Given the description of an element on the screen output the (x, y) to click on. 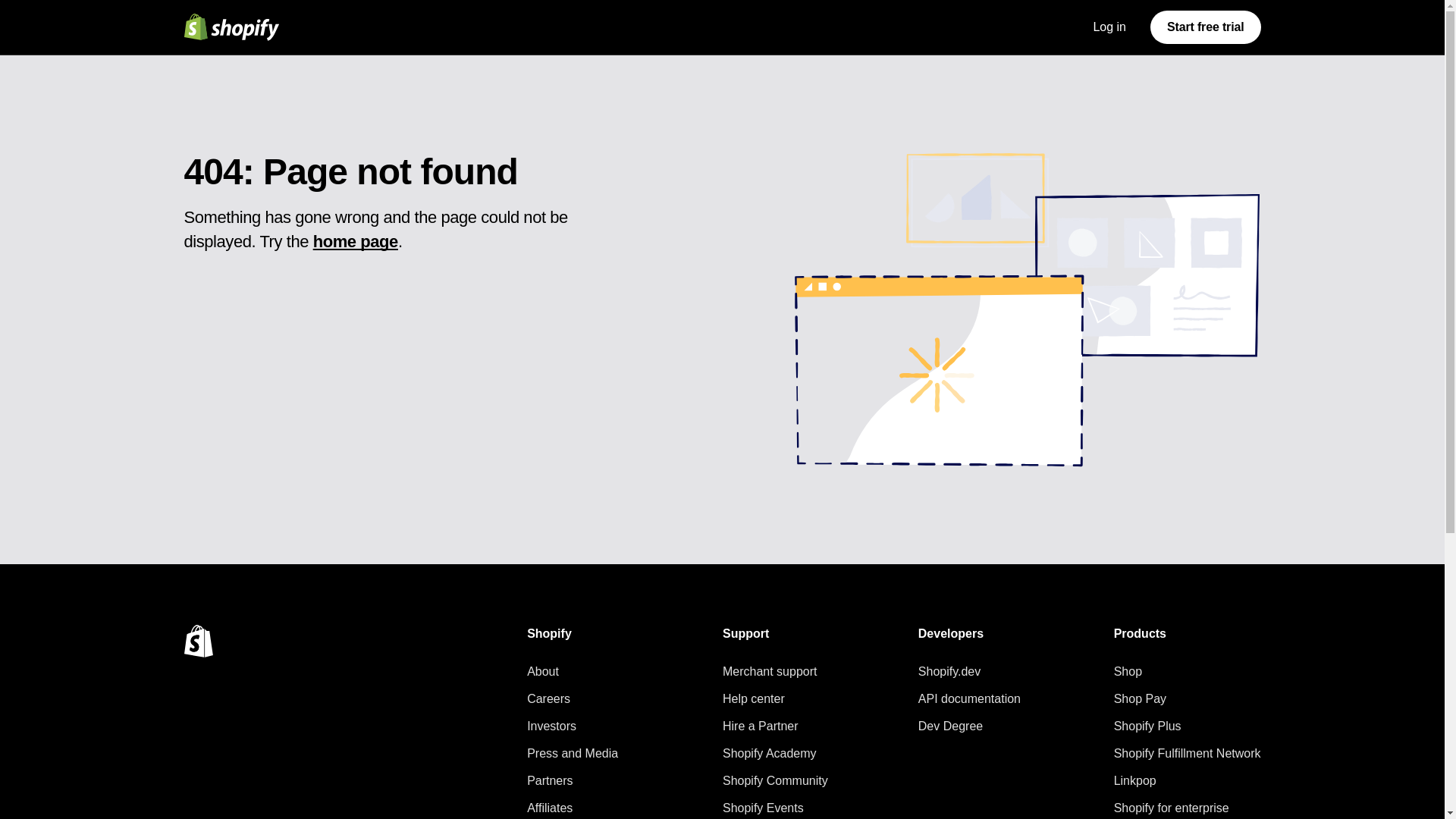
Affiliates (572, 808)
Shopify for enterprise (1186, 808)
Shopify Fulfillment Network (1186, 753)
Shop (1186, 671)
Careers (572, 699)
home page (355, 240)
Log in (1109, 26)
Help center (775, 699)
Dev Degree (969, 726)
Partners (572, 780)
